Given the description of an element on the screen output the (x, y) to click on. 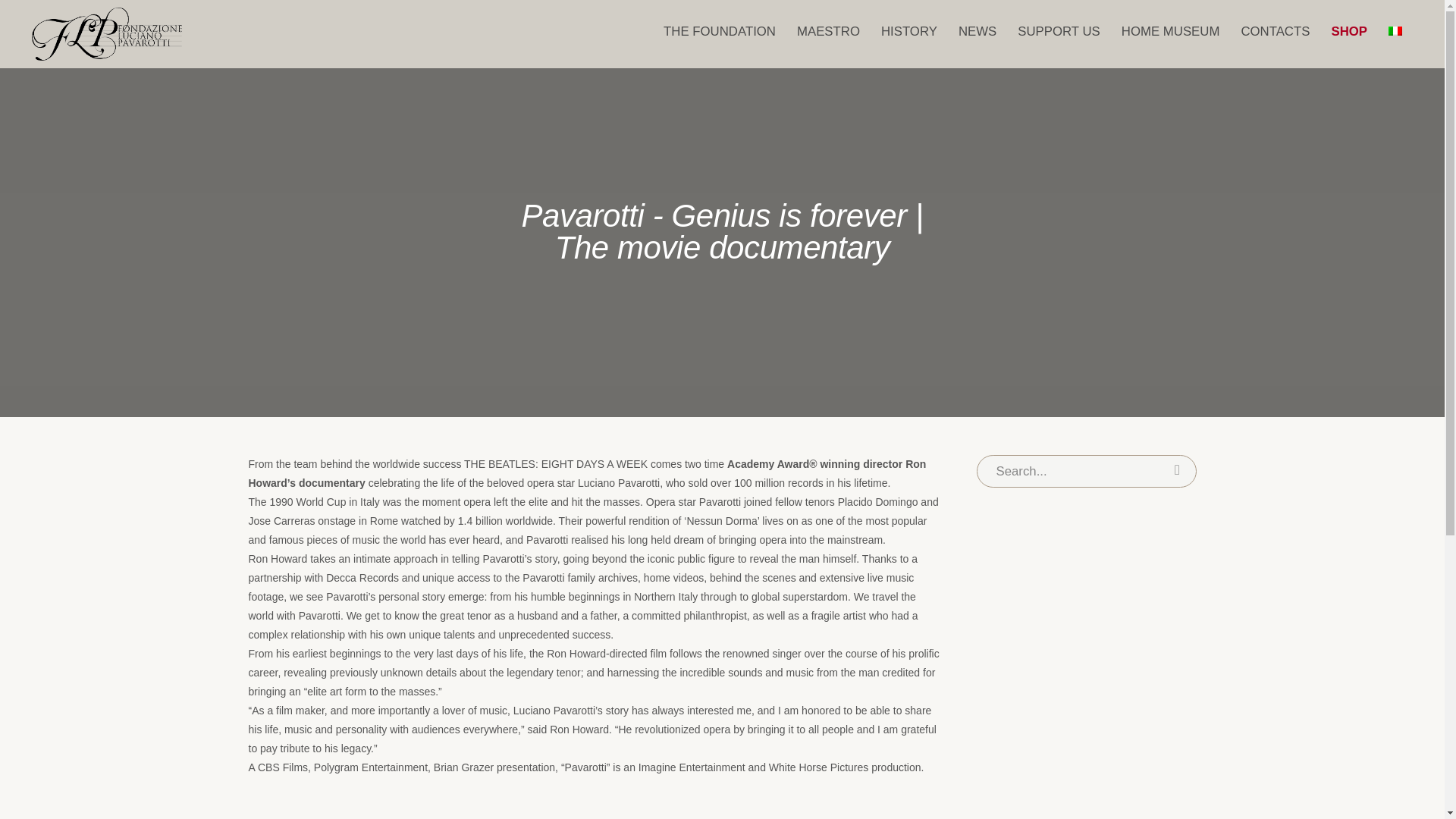
HISTORY (908, 31)
THE FOUNDATION (719, 31)
NEWS (977, 31)
SUPPORT US (1058, 31)
MAESTRO (828, 31)
HOME MUSEUM (1170, 31)
SHOP (1348, 31)
CONTACTS (1275, 31)
